Given the description of an element on the screen output the (x, y) to click on. 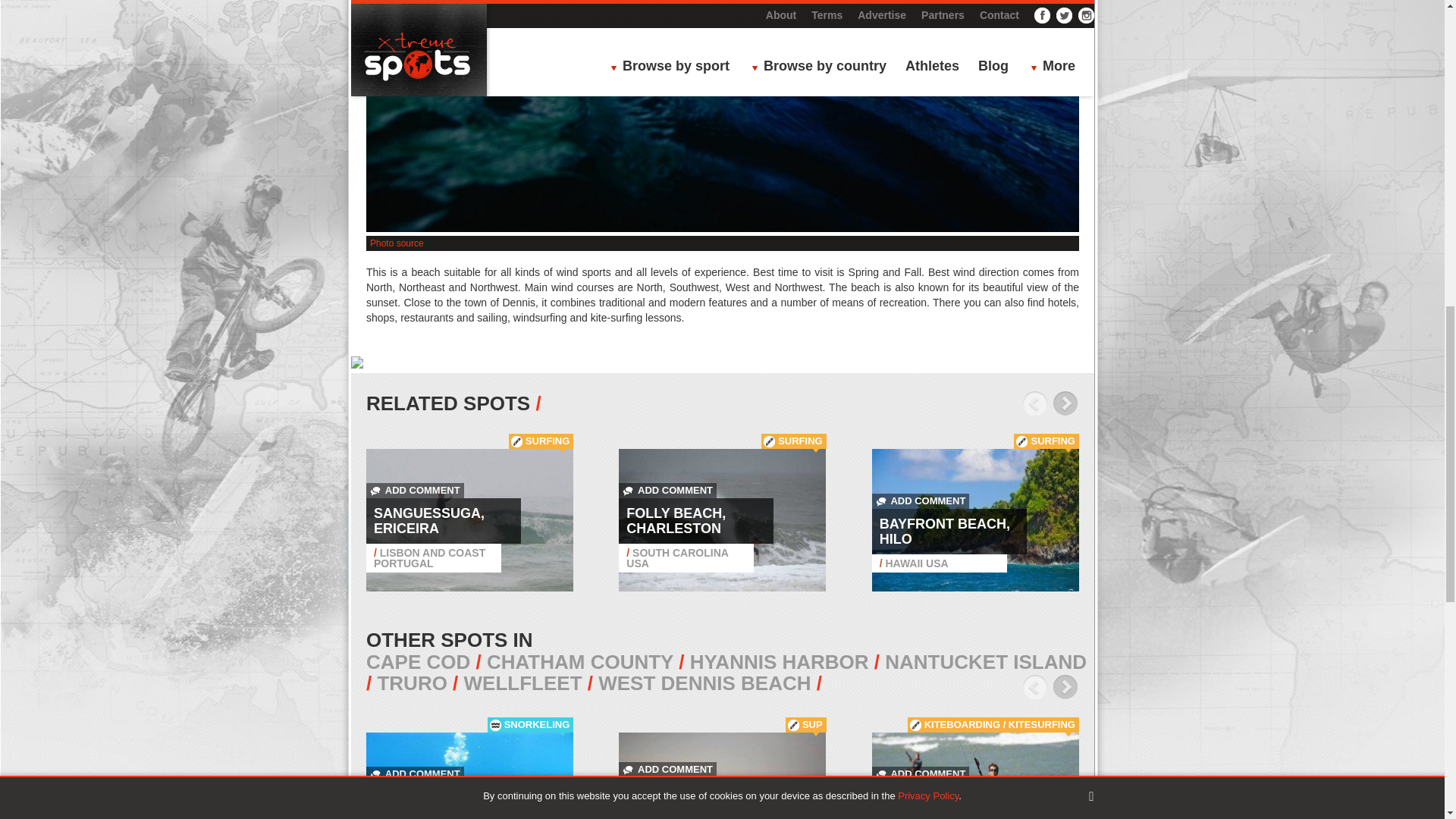
SANGUESSUGA, ERICEIRA (429, 521)
  ADD COMMENT (415, 490)
SURFING (547, 440)
Photo source (396, 243)
